Given the description of an element on the screen output the (x, y) to click on. 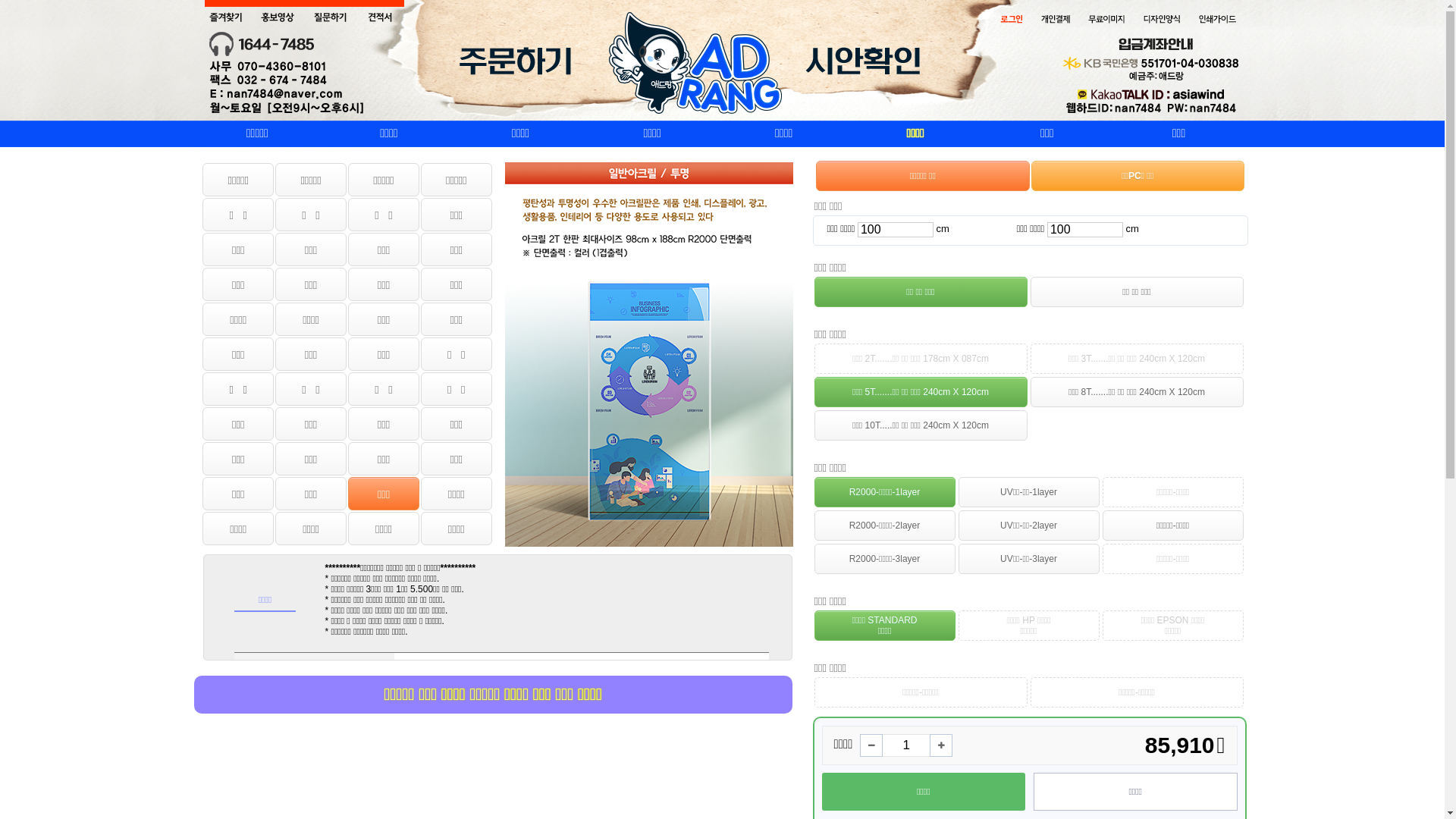
100 Element type: text (1085, 229)
100 Element type: text (895, 229)
